Given the description of an element on the screen output the (x, y) to click on. 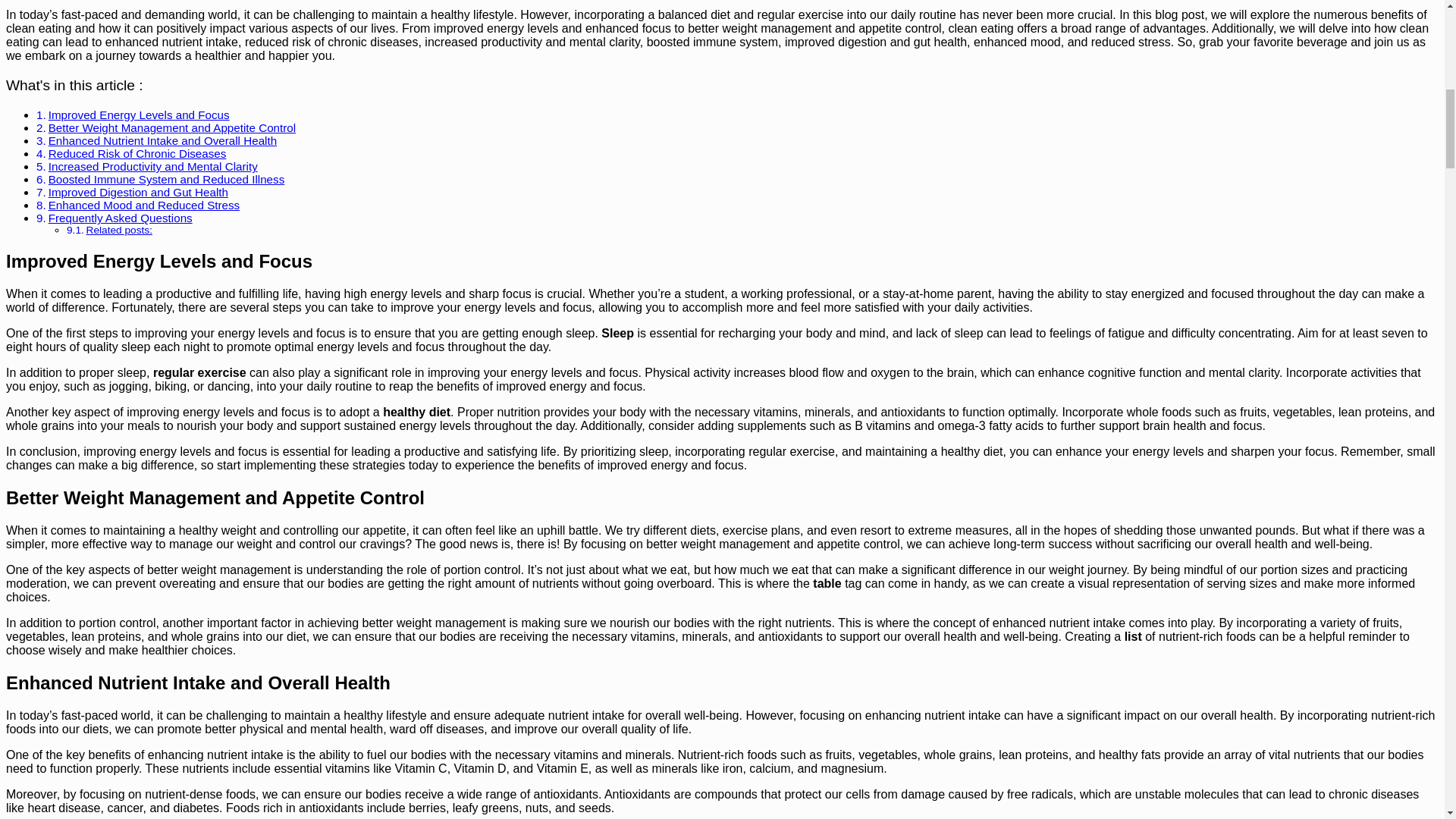
Improved Energy Levels and Focus (139, 114)
Improved Digestion and Gut Health (138, 192)
Enhanced Mood and Reduced Stress (144, 205)
Boosted Immune System and Reduced Illness (166, 178)
Enhanced Nutrient Intake and Overall Health (162, 140)
ATqY13puKoo (217, 2)
Reduced Risk of Chronic Diseases (137, 153)
Increased Productivity and Mental Clarity (152, 165)
Boosted Immune System and Reduced Illness (166, 178)
Better Weight Management and Appetite Control (171, 127)
Enhanced Nutrient Intake and Overall Health (162, 140)
Better Weight Management and Appetite Control (171, 127)
Improved Energy Levels and Focus (139, 114)
Improved Digestion and Gut Health (138, 192)
Increased Productivity and Mental Clarity (152, 165)
